Given the description of an element on the screen output the (x, y) to click on. 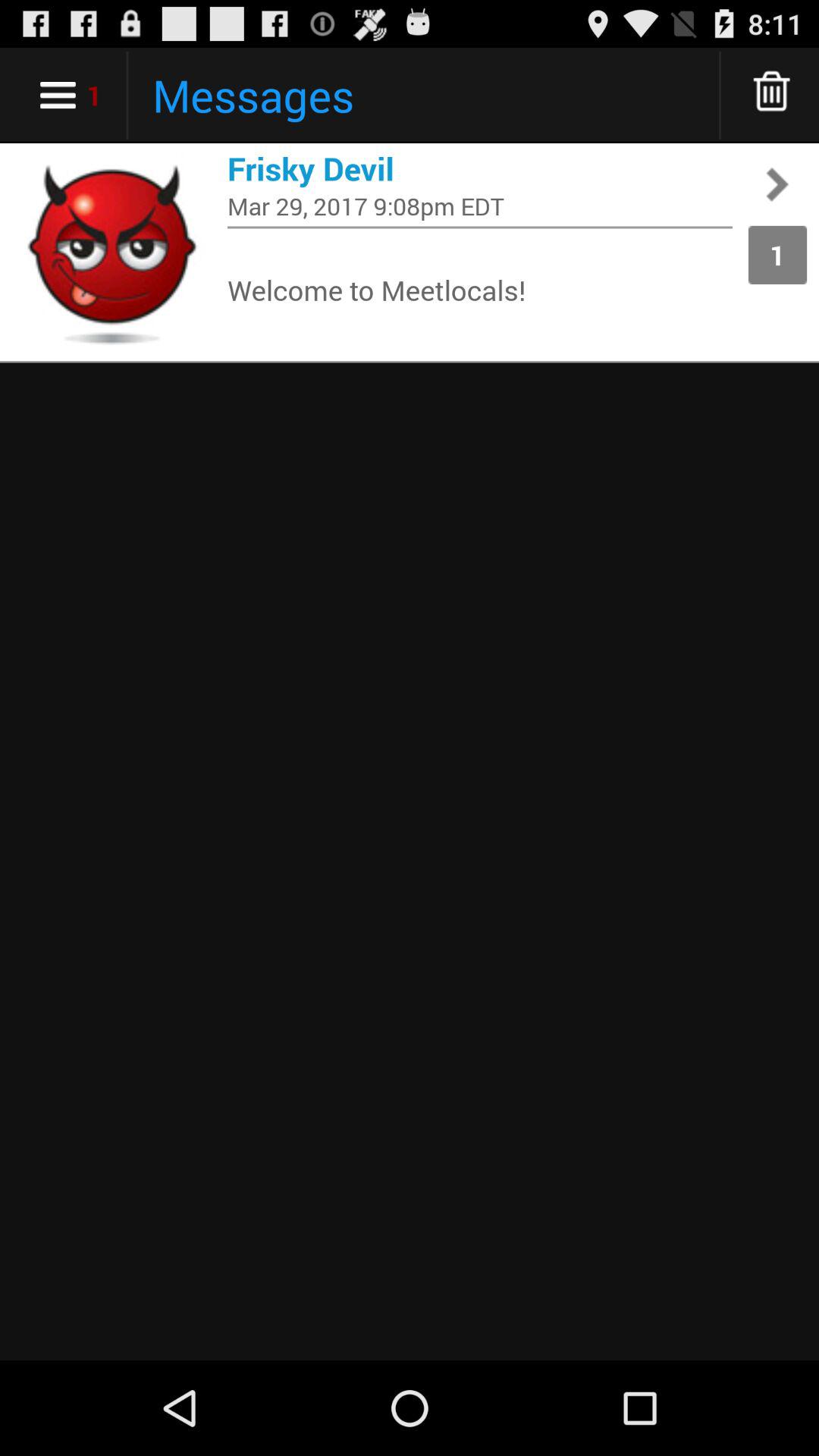
turn on the icon above the frisky devil (772, 95)
